Given the description of an element on the screen output the (x, y) to click on. 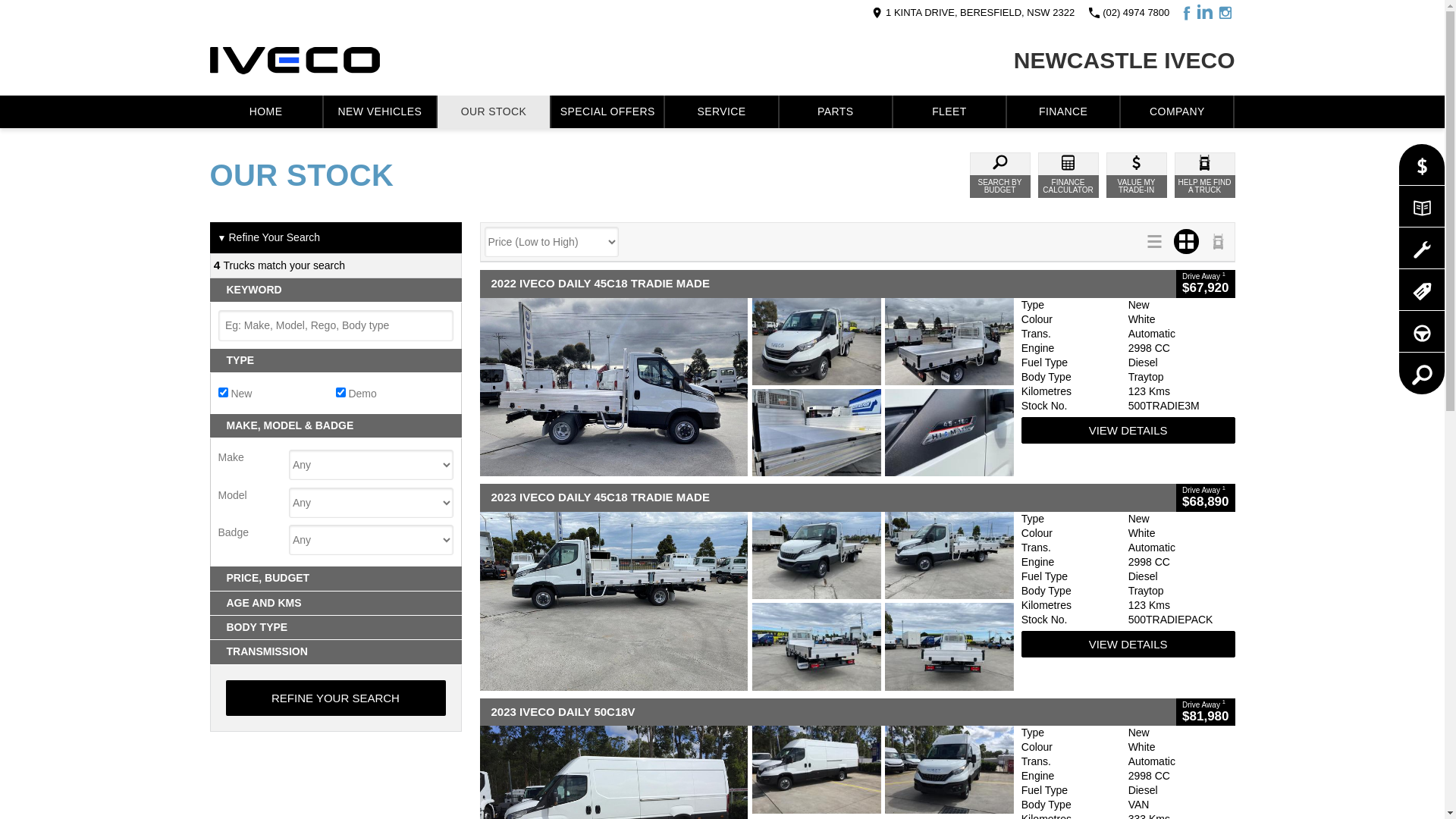
BODY TYPE Element type: text (335, 627)
FLEET Element type: text (949, 111)
NEWCASTLE IVECO Element type: text (1124, 60)
2022 Iveco Daily 45C18 Tradie Made White Element type: hover (746, 386)
SERVICE Element type: text (721, 111)
PARTS Element type: text (835, 111)
MAKE, MODEL & BADGE Element type: text (335, 425)
Drive Away 1
$68,890 Element type: text (1205, 497)
(02) 4974 7800 Element type: text (1127, 12)
PRICE, BUDGET Element type: text (335, 577)
VIEW DETAILS Element type: text (1128, 430)
SEARCH BY BUDGET Element type: text (999, 174)
2023 IVECO DAILY 50C18V Element type: text (827, 712)
COMPANY Element type: text (1176, 111)
FINANCE CALCULATOR Element type: text (1067, 174)
VALUE MY TRADE-IN Element type: text (1135, 174)
1 KINTA DRIVE, BERESFIELD, NSW 2322 Element type: text (971, 12)
TRANSMISSION Element type: text (335, 651)
TYPE Element type: text (335, 360)
KEYWORD Element type: text (335, 289)
SPECIAL OFFERS Element type: text (607, 111)
OUR STOCK Element type: text (493, 111)
2023 Iveco Daily 45C18 Tradie Made White Element type: hover (746, 600)
FINANCE Element type: text (1063, 111)
VIEW DETAILS Element type: text (1128, 643)
Drive Away 1
$81,980 Element type: text (1205, 712)
HOME Element type: text (265, 111)
2022 IVECO DAILY 45C18 TRADIE MADE Element type: text (827, 283)
HELP ME FIND A TRUCK Element type: text (1203, 174)
2023 IVECO DAILY 45C18 TRADIE MADE Element type: text (827, 497)
Drive Away 1
$67,920 Element type: text (1205, 283)
Refine Your Search Element type: text (335, 697)
AGE AND KMS Element type: text (335, 603)
NEW VEHICLES Element type: text (379, 111)
